Given the description of an element on the screen output the (x, y) to click on. 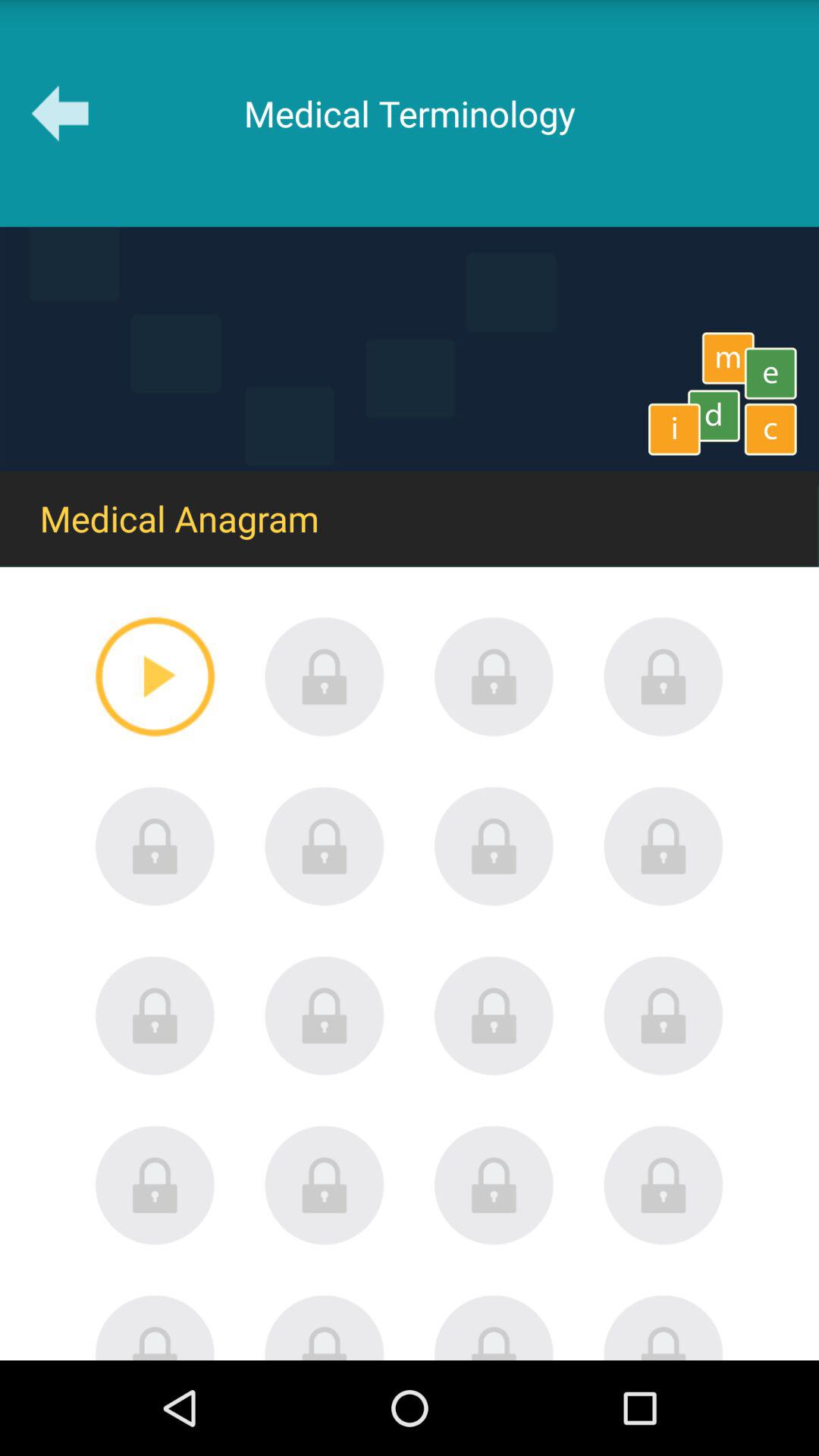
choose option (493, 846)
